Given the description of an element on the screen output the (x, y) to click on. 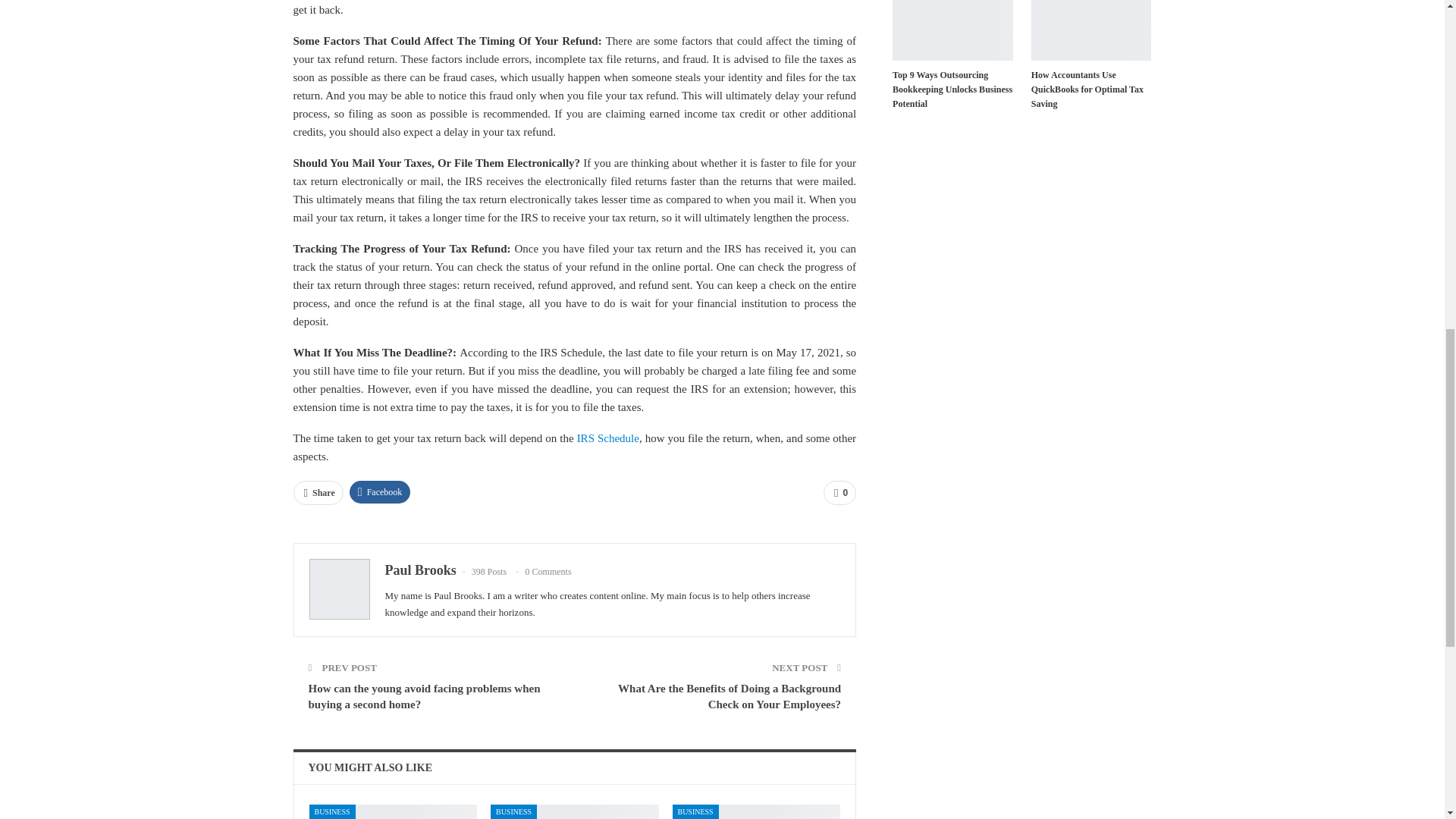
BUSINESS (695, 811)
RAID Data Recovery Techniques: Navigating the Complexities (574, 811)
BUSINESS (331, 811)
IRS Schedule (607, 438)
Smart Tips for First-Time Car Buyers (392, 811)
Paul Brooks (421, 570)
0 (840, 492)
BUSINESS (513, 811)
